Given the description of an element on the screen output the (x, y) to click on. 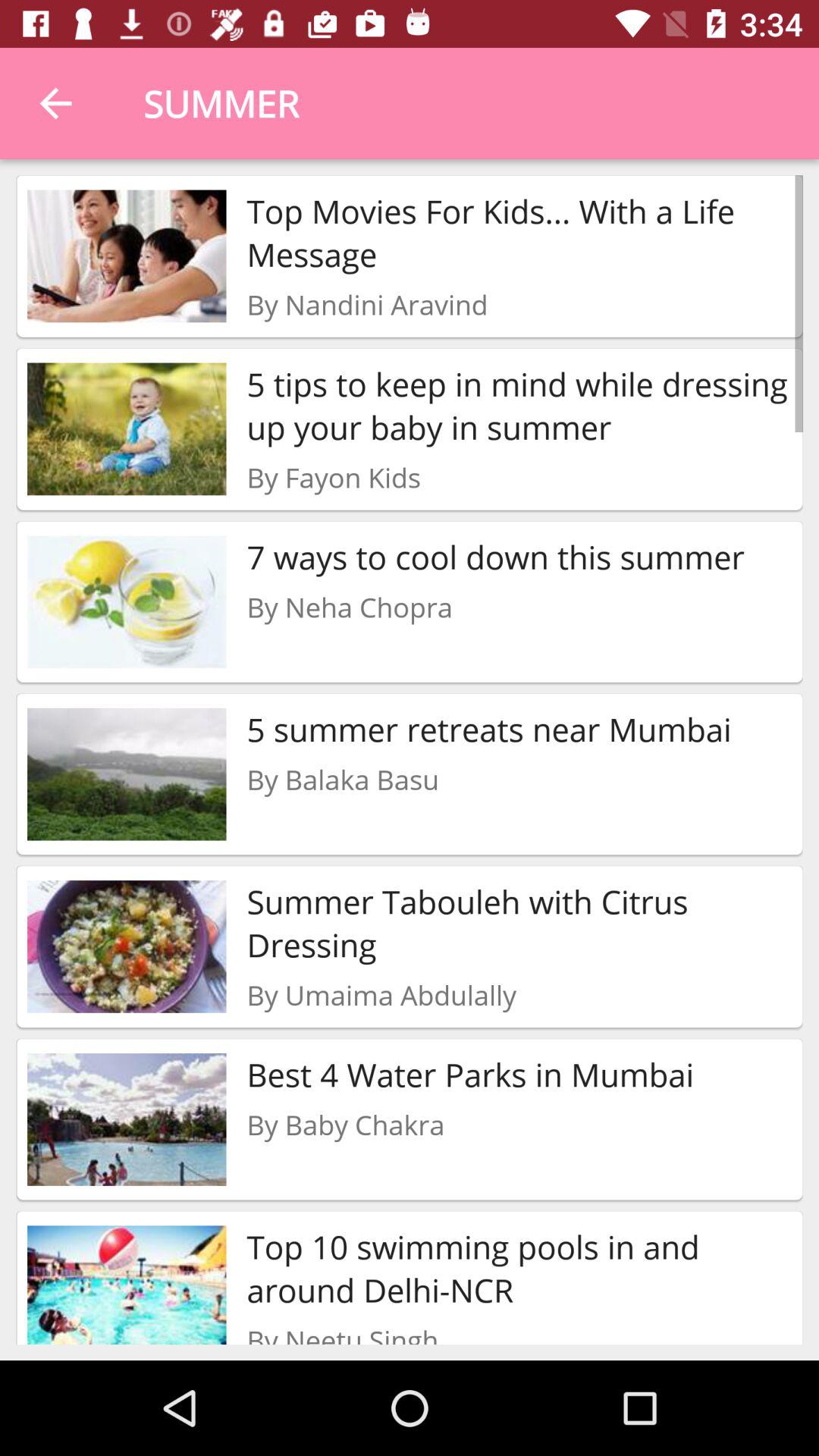
select 7 ways to icon (495, 556)
